Given the description of an element on the screen output the (x, y) to click on. 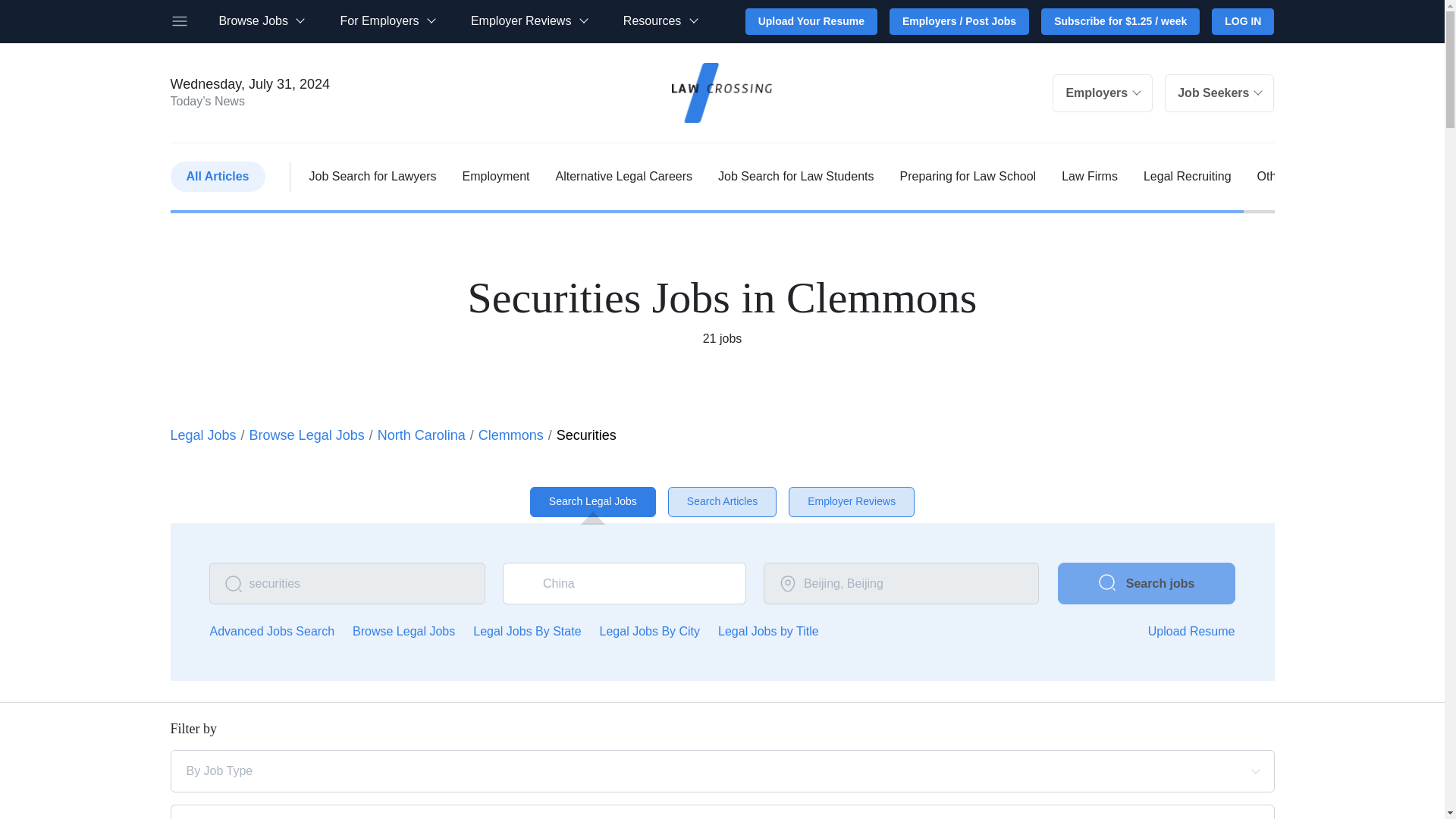
Employer Reviews (528, 20)
Employers (1102, 93)
securities (346, 583)
Browse Jobs (260, 20)
Beijing, Beijing (900, 583)
Upload Your Resume (811, 22)
Resources (660, 20)
Job Seekers (1219, 93)
For Employers (386, 20)
LOG IN (1242, 22)
By Job Type (668, 771)
